Given the description of an element on the screen output the (x, y) to click on. 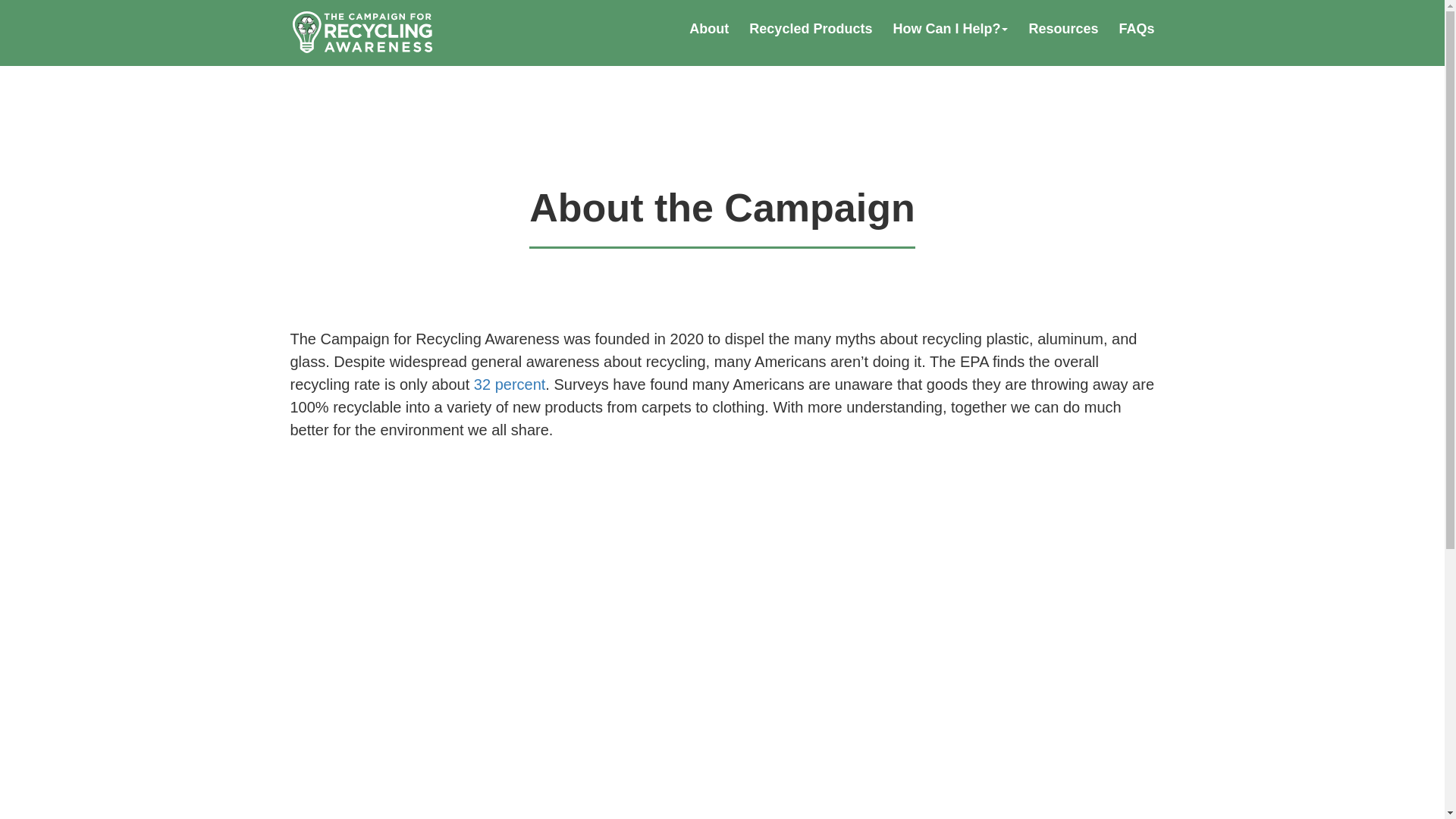
FAQs (1136, 28)
Resources (1062, 28)
32 percent (510, 384)
About (708, 28)
Recycled Products (810, 28)
How Can I Help? (949, 28)
